Given the description of an element on the screen output the (x, y) to click on. 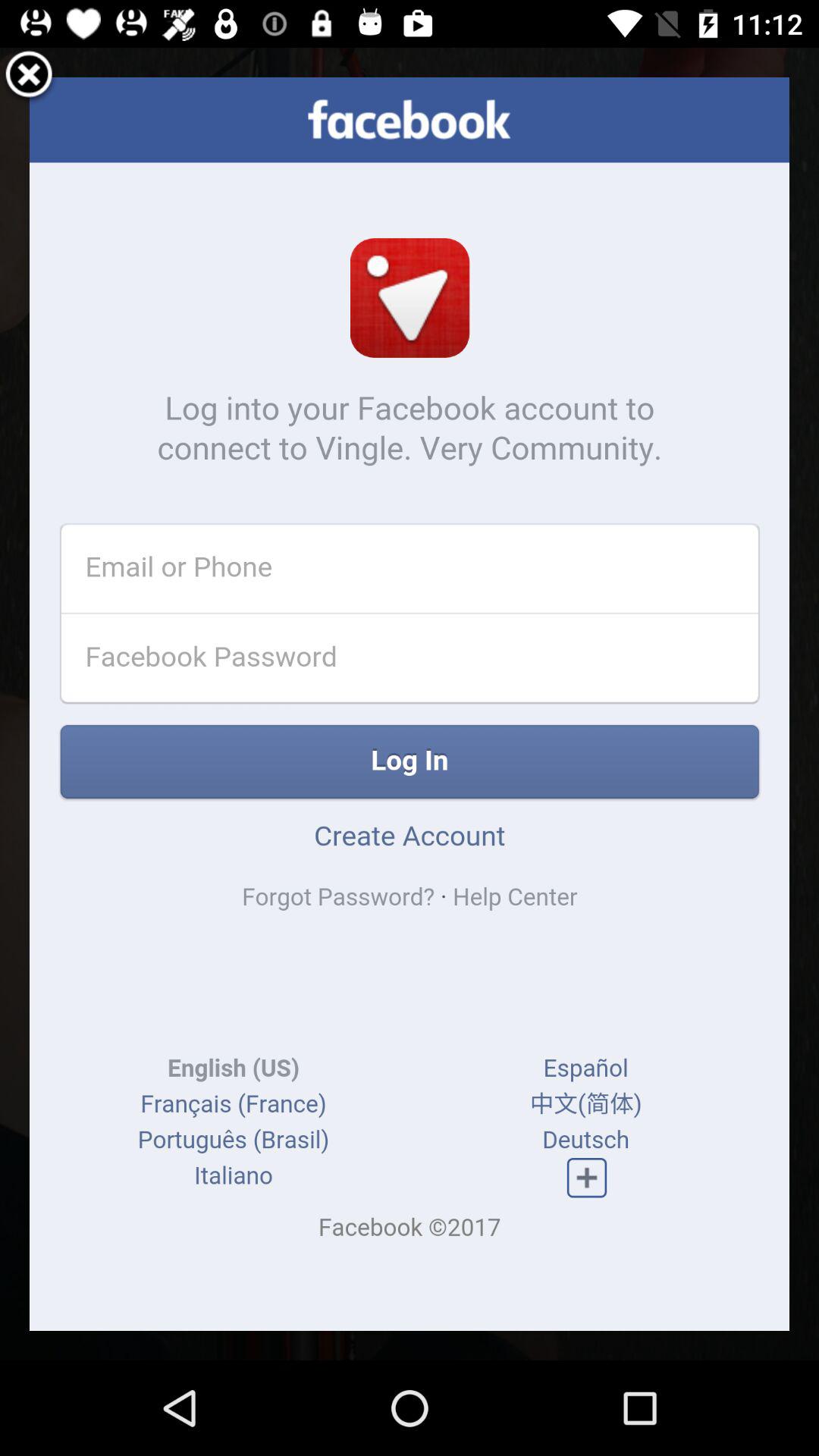
close log-in screen (29, 76)
